Given the description of an element on the screen output the (x, y) to click on. 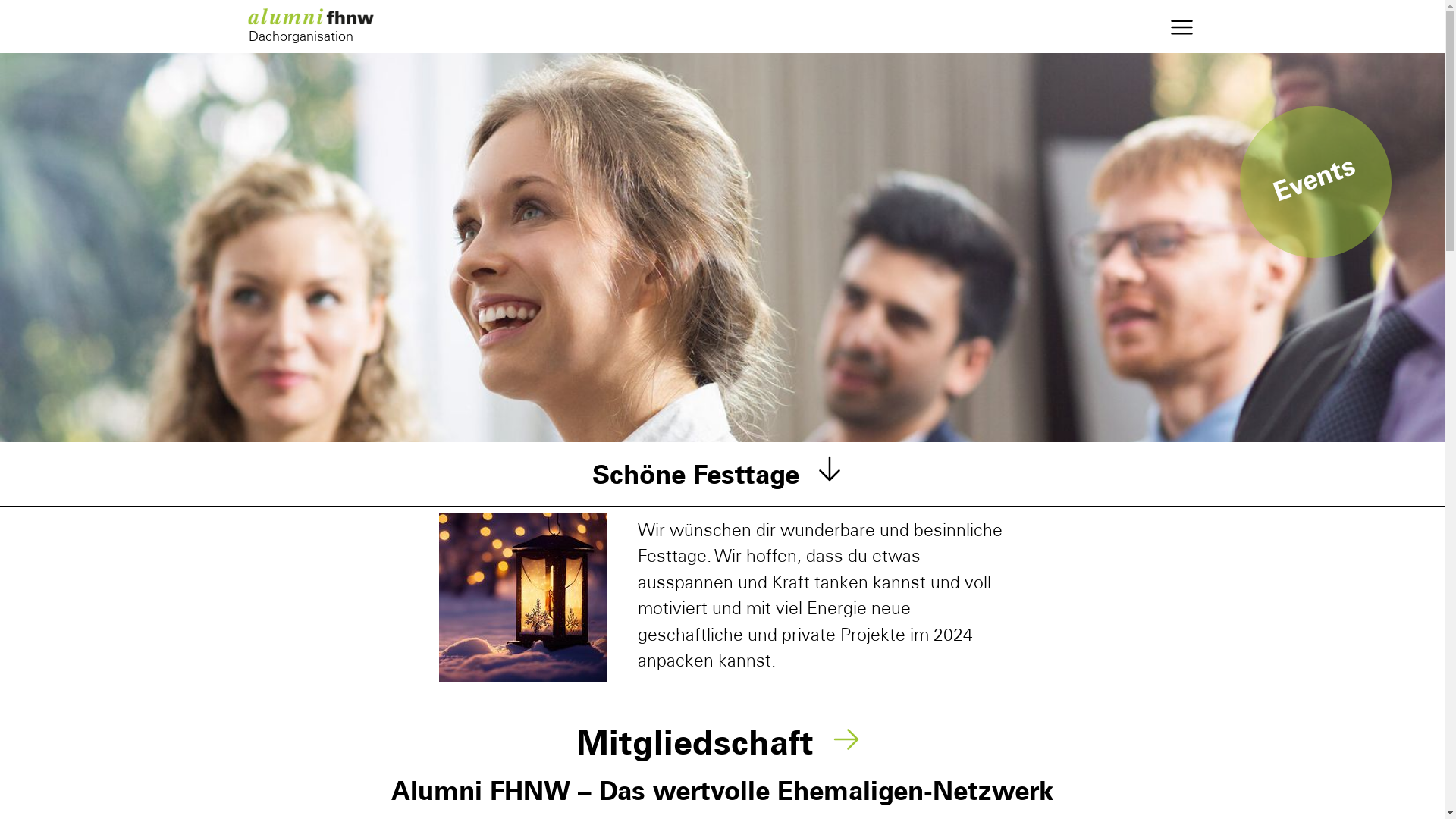
Events Element type: text (1294, 160)
Mitgliedschaft Element type: text (722, 746)
Dachorganisation Element type: text (322, 26)
